Given the description of an element on the screen output the (x, y) to click on. 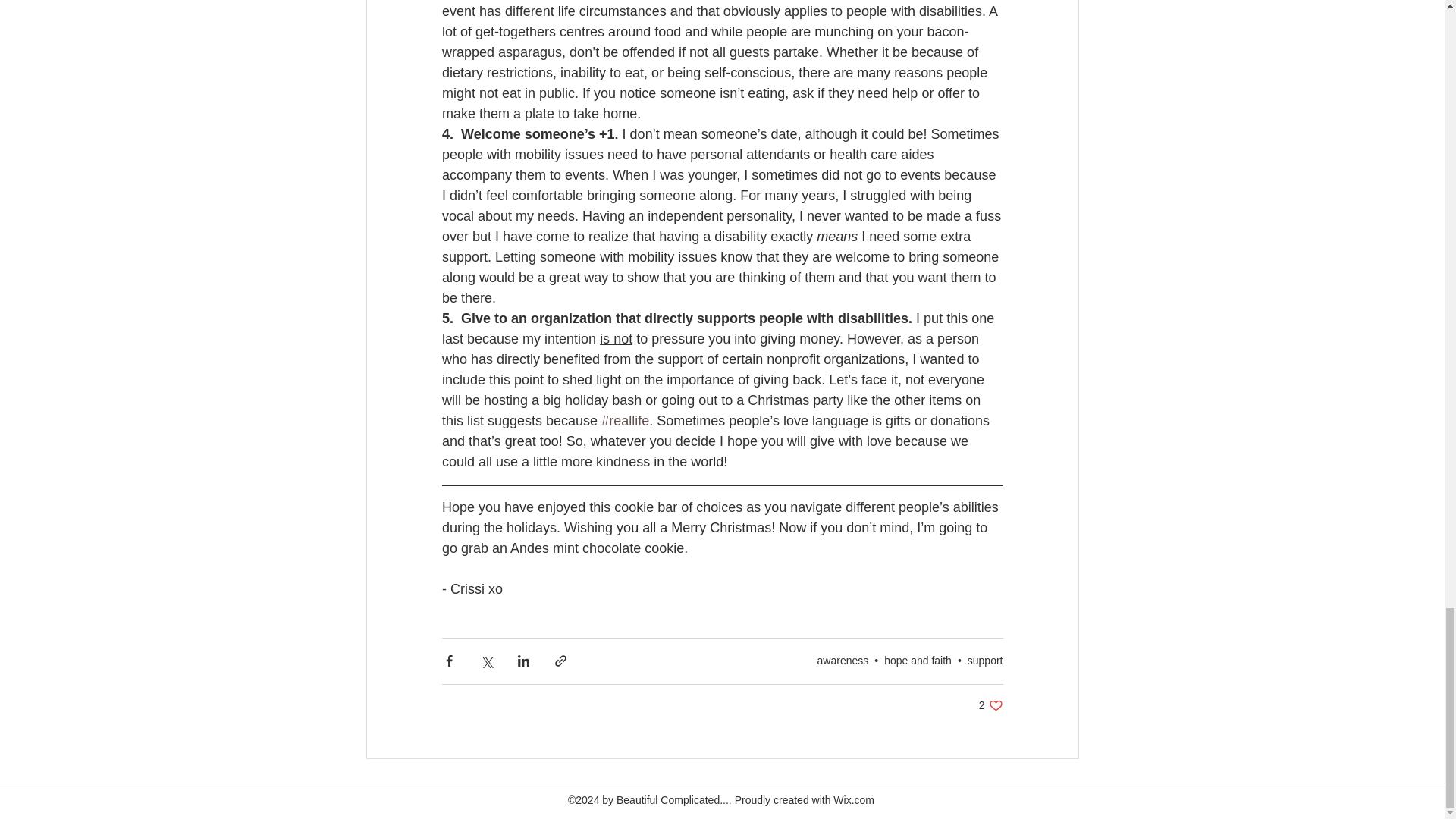
hope and faith (917, 660)
awareness (990, 705)
support (842, 660)
